Given the description of an element on the screen output the (x, y) to click on. 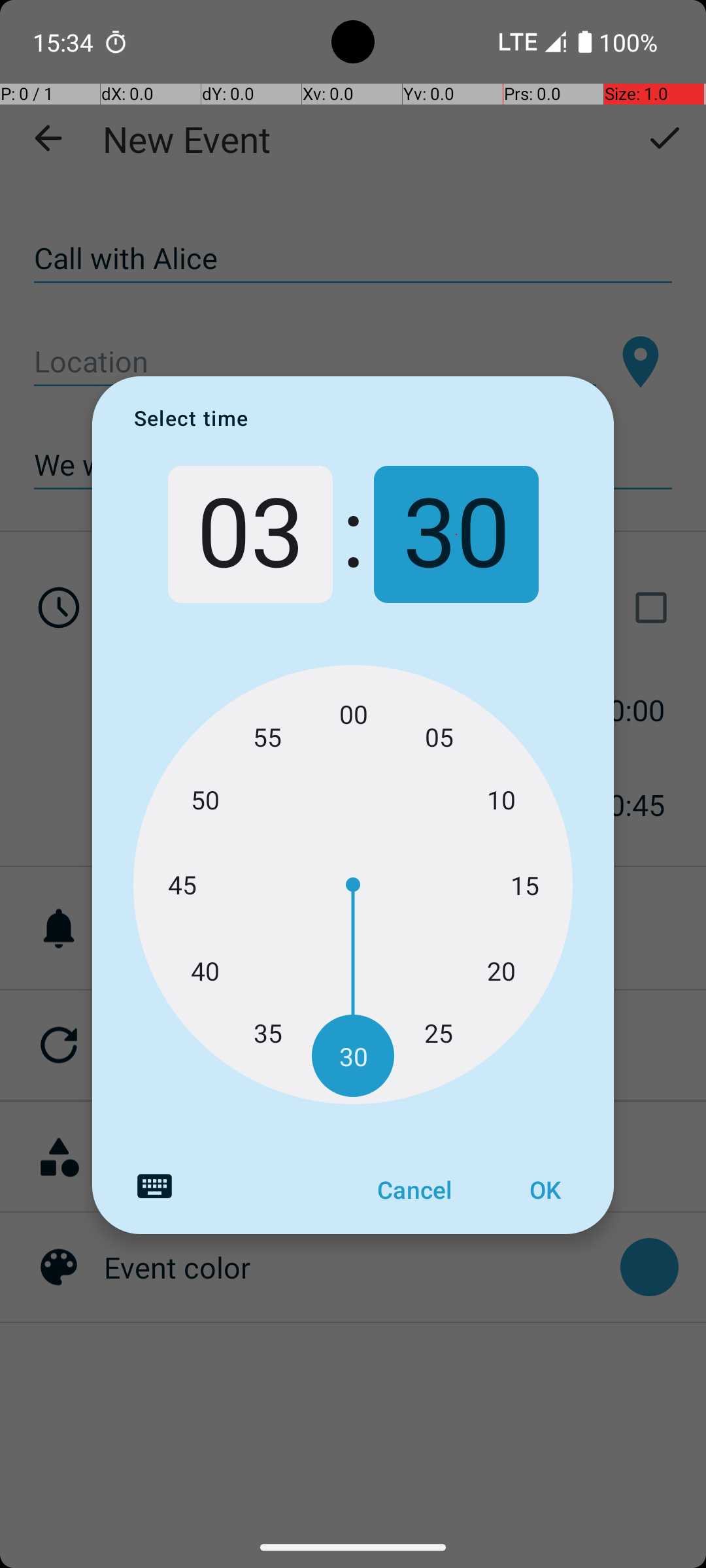
03 Element type: android.view.View (250, 534)
